Given the description of an element on the screen output the (x, y) to click on. 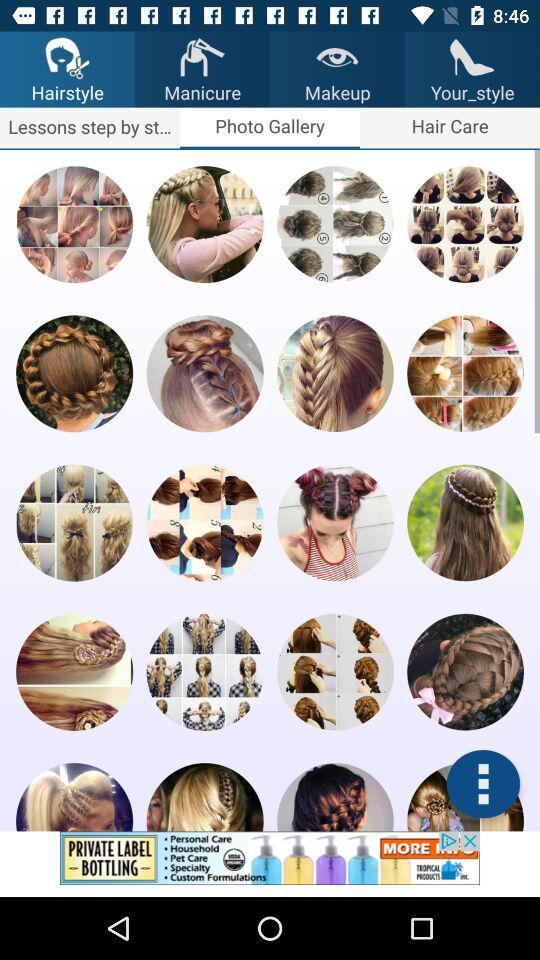
open new page (335, 373)
